Given the description of an element on the screen output the (x, y) to click on. 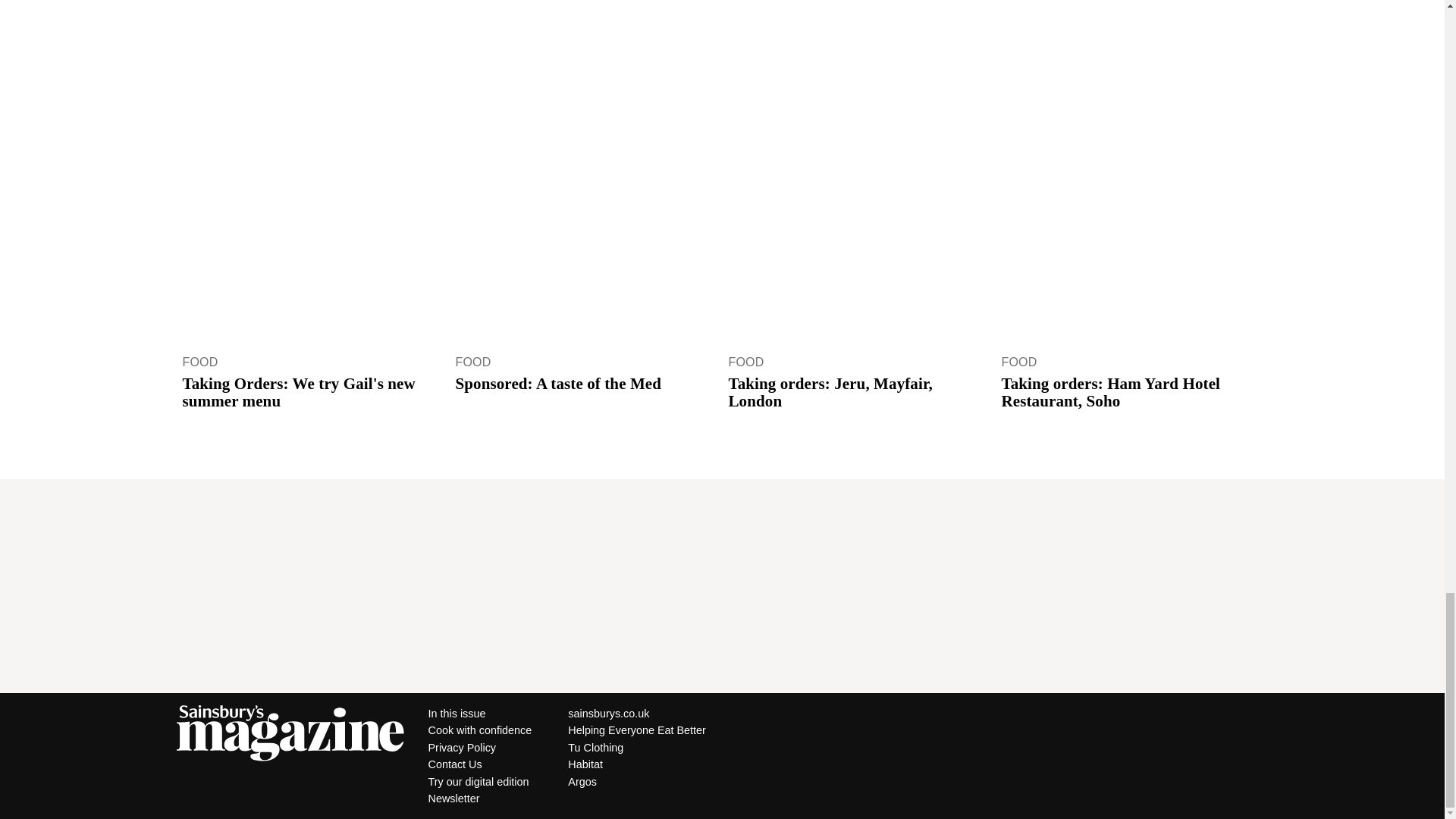
Newsletter (479, 798)
Contact Us (479, 764)
Privacy Policy (479, 747)
sainsburys.co.uk (636, 713)
In this issue (479, 713)
Try our digital edition (479, 781)
Tu Clothing (636, 747)
Cook with confidence (479, 729)
Helping Everyone Eat Better (636, 729)
